Given the description of an element on the screen output the (x, y) to click on. 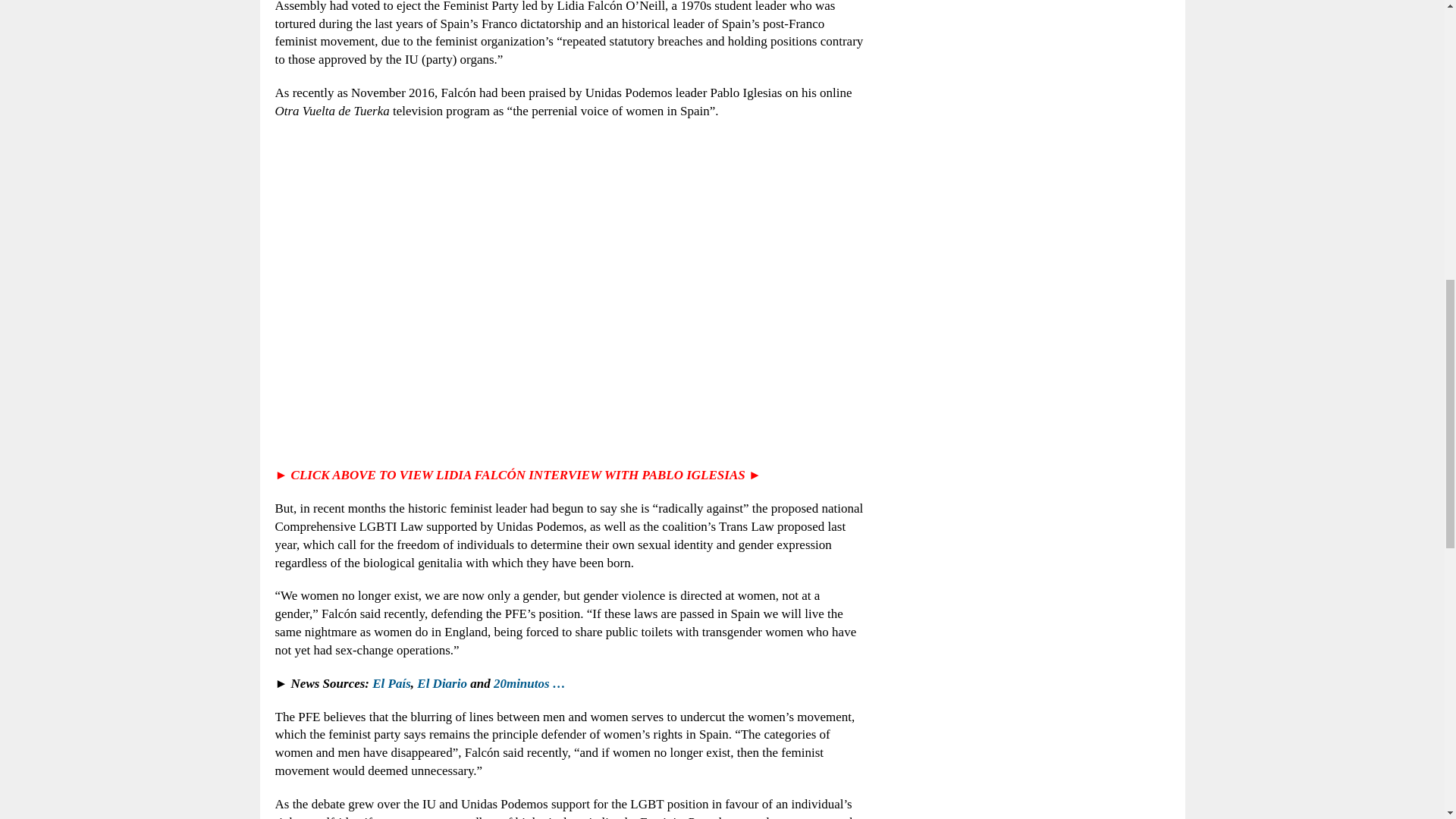
El Diario (441, 683)
